Given the description of an element on the screen output the (x, y) to click on. 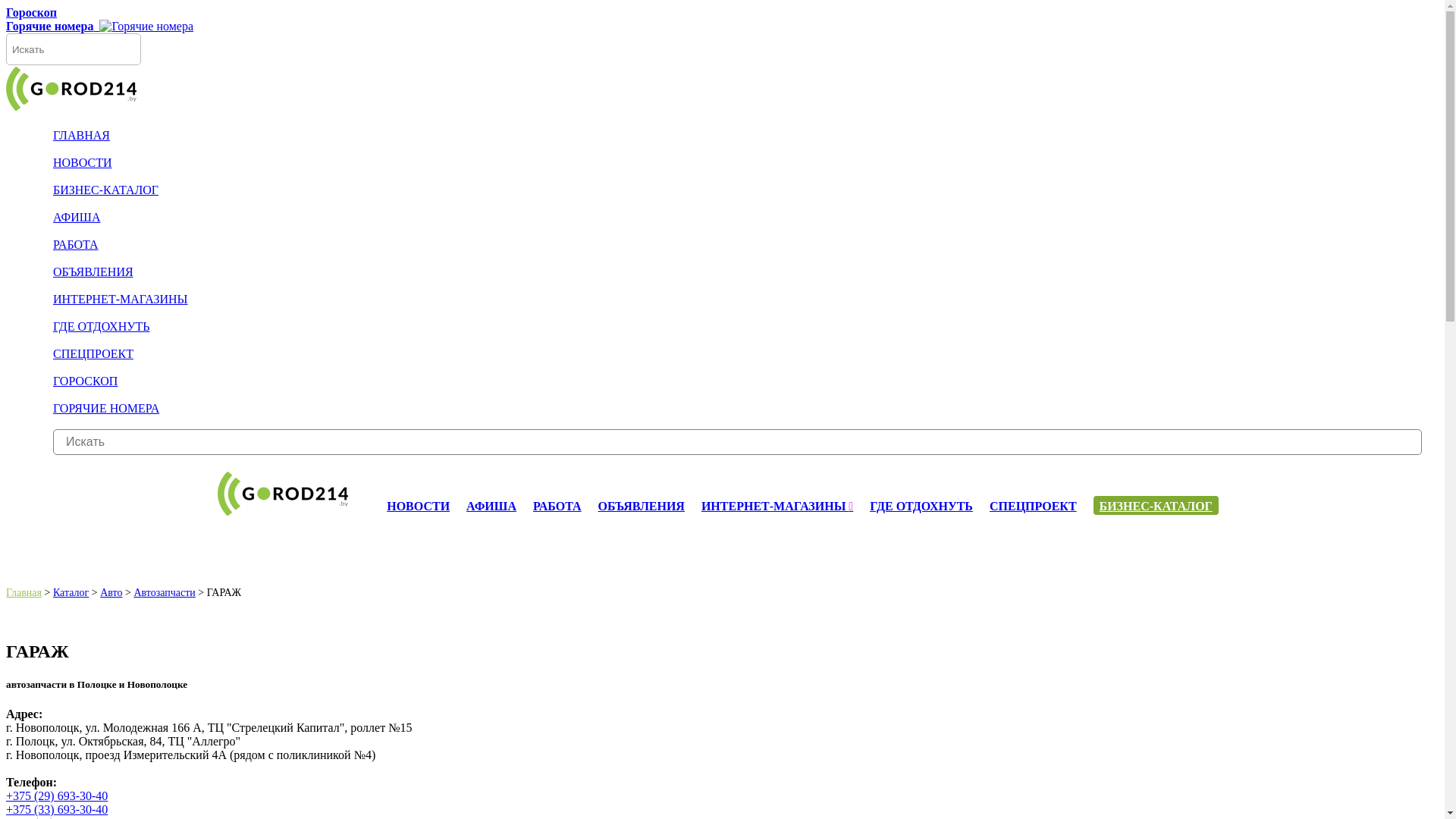
+375 (33) 693-30-40 Element type: text (56, 809)
+375 (29) 693-30-40 Element type: text (56, 795)
